Given the description of an element on the screen output the (x, y) to click on. 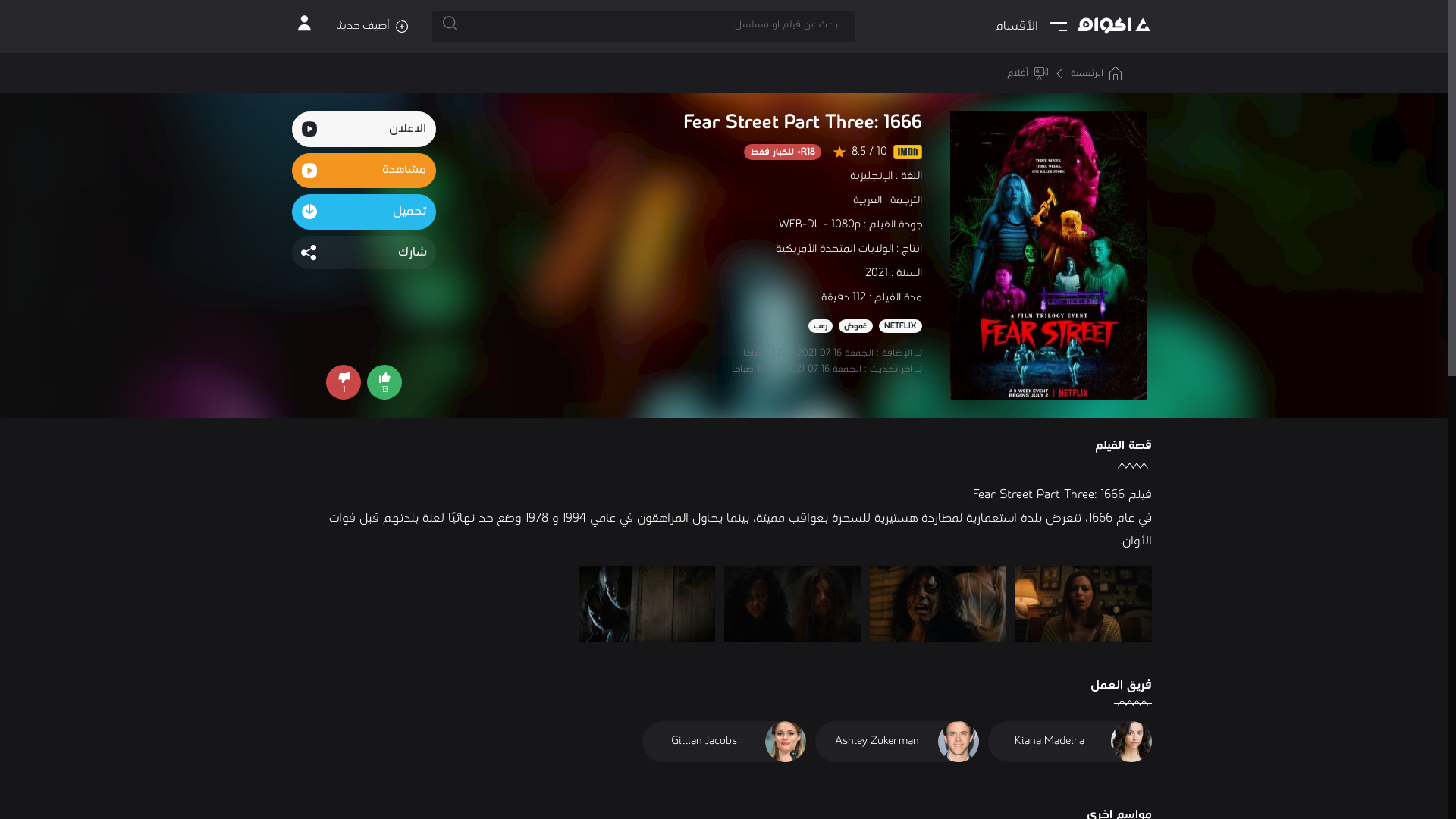
1 Element type: text (343, 381)
Gillian Jacobs Element type: text (724, 741)
NETFLIX Element type: text (900, 325)
Kiana Madeira Element type: text (1069, 741)
13 Element type: text (384, 381)
Ashley Zukerman Element type: text (897, 741)
